Given the description of an element on the screen output the (x, y) to click on. 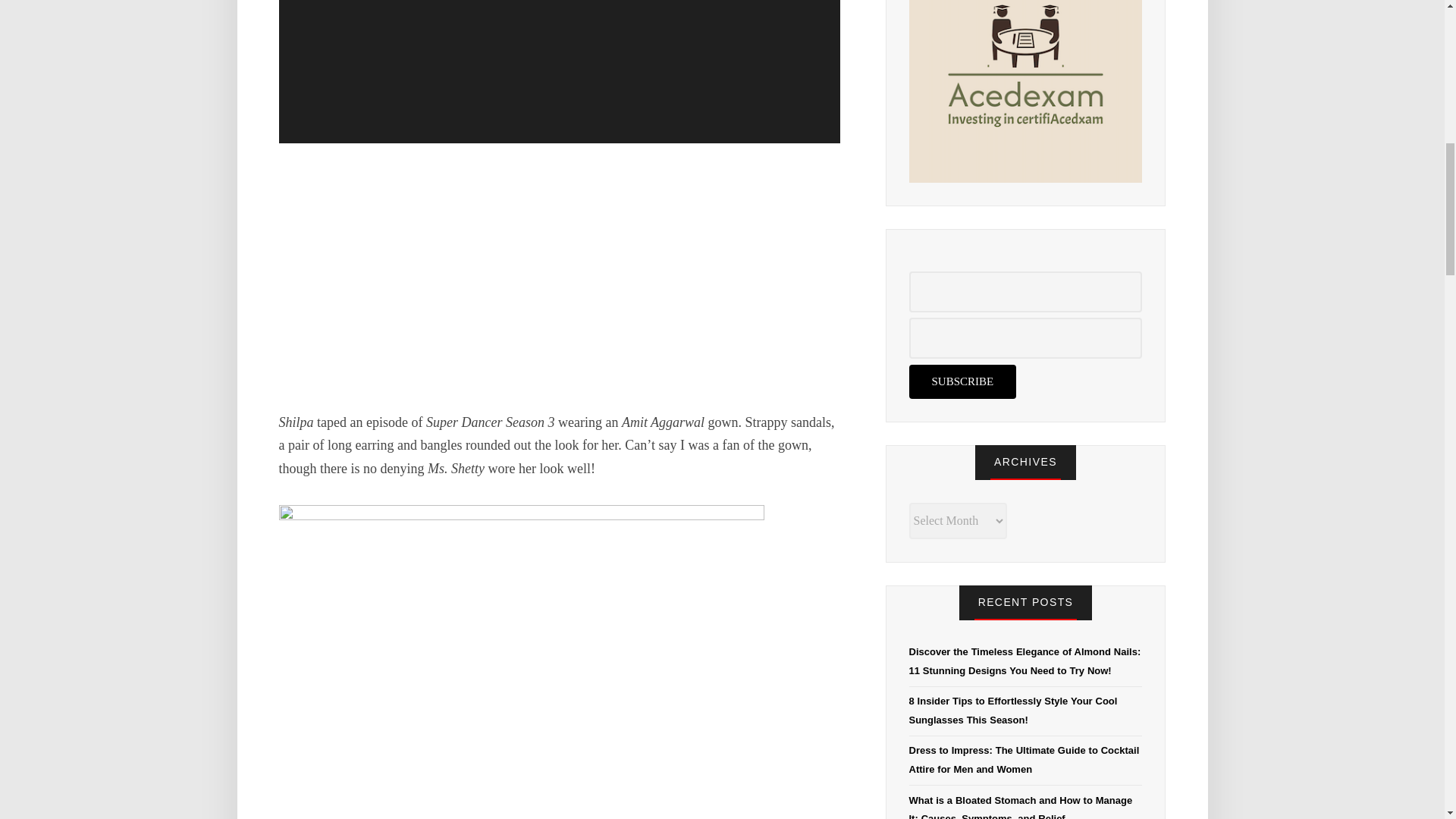
Advertisement (559, 273)
Subscribe (962, 381)
